Given the description of an element on the screen output the (x, y) to click on. 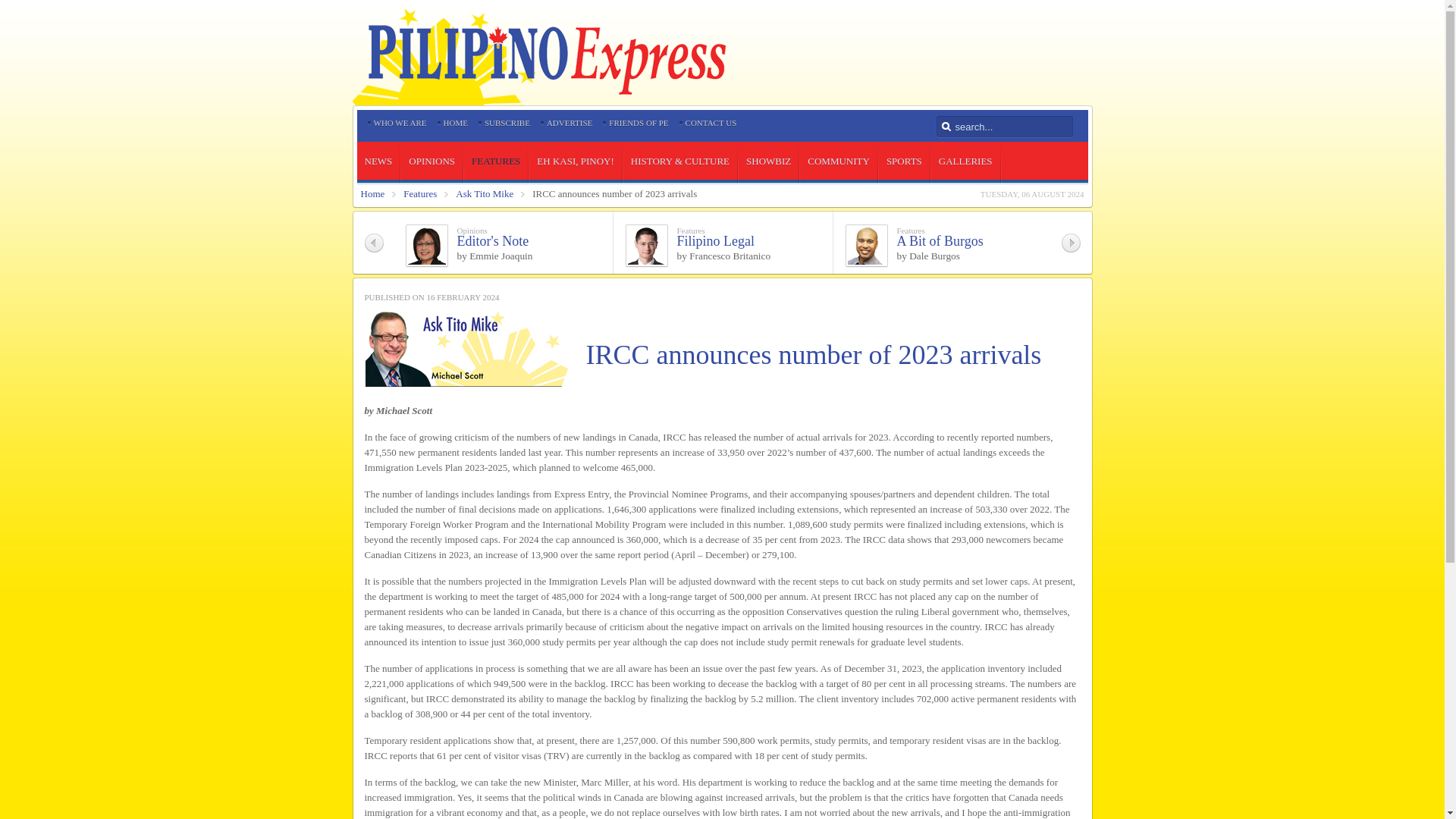
NEWS (377, 160)
WHO WE ARE (399, 122)
HOME (455, 122)
EH KASI, PINOY! (575, 160)
OPINIONS (432, 160)
Reset (3, 2)
FEATURES (495, 160)
CONTACT US (710, 122)
ADVERTISE (569, 122)
SUBSCRIBE (506, 122)
